Given the description of an element on the screen output the (x, y) to click on. 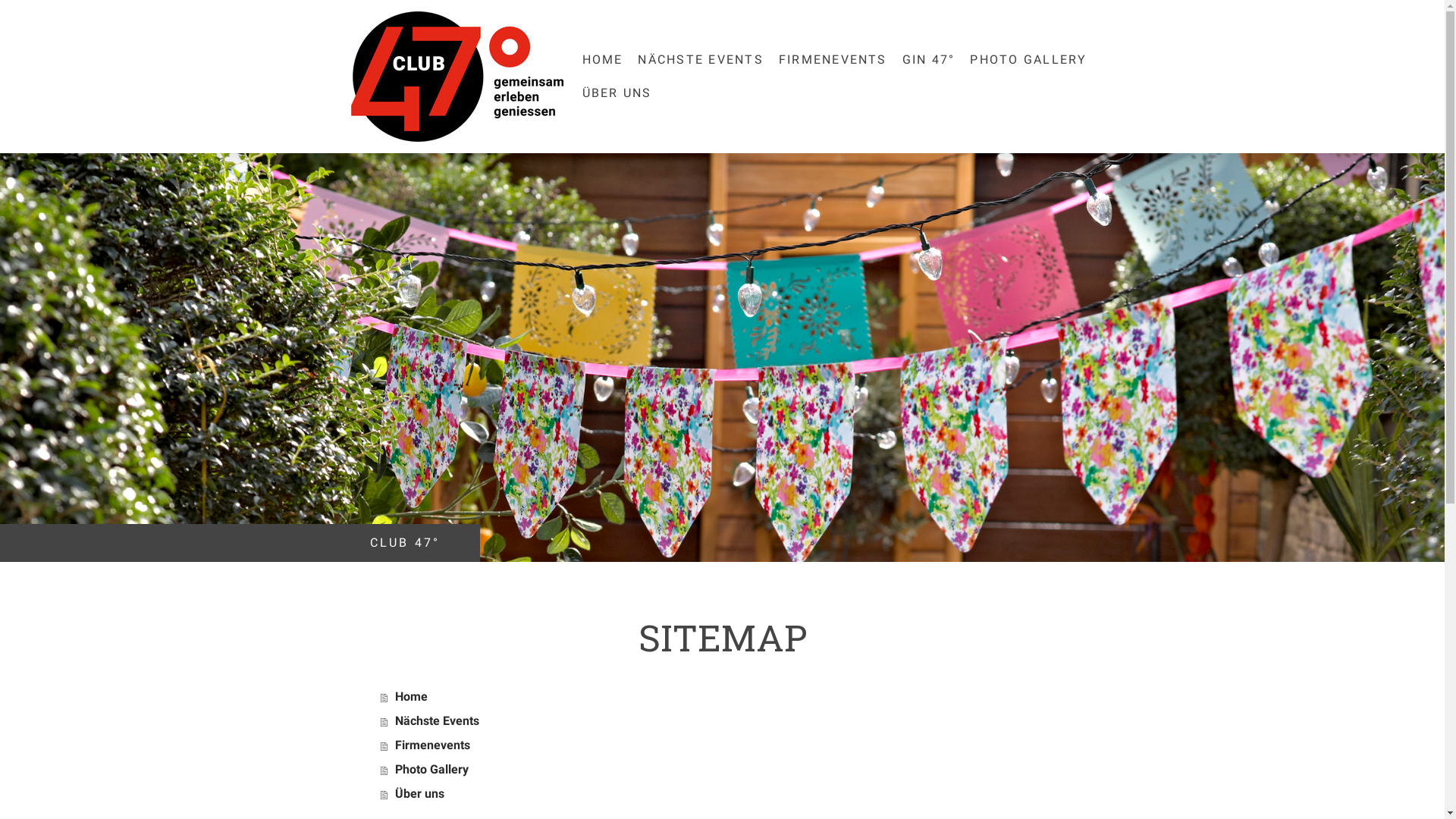
Photo Gallery Element type: text (731, 769)
FIRMENEVENTS Element type: text (832, 59)
Firmenevents Element type: text (731, 745)
PHOTO GALLERY Element type: text (1028, 59)
Home Element type: text (731, 696)
HOME Element type: text (602, 59)
